Given the description of an element on the screen output the (x, y) to click on. 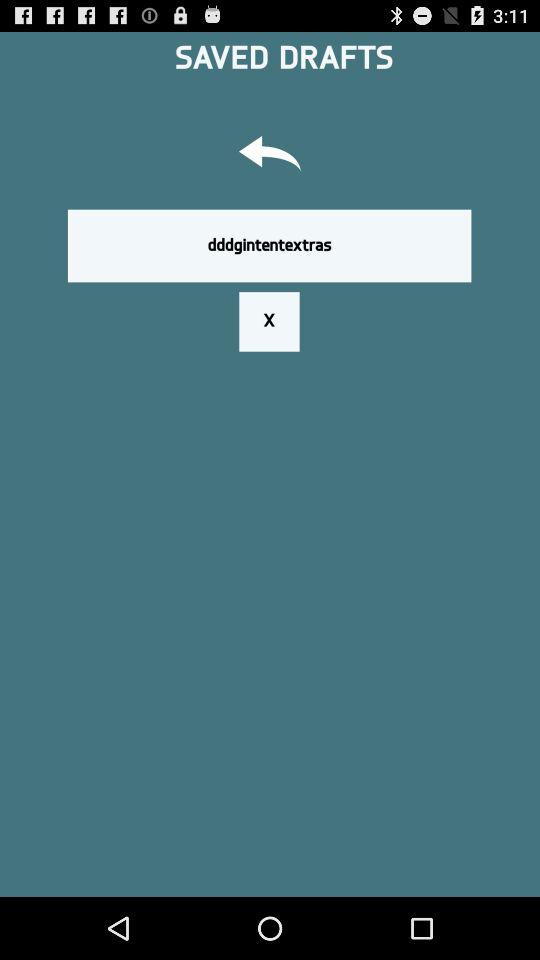
turn off the x item (269, 321)
